Given the description of an element on the screen output the (x, y) to click on. 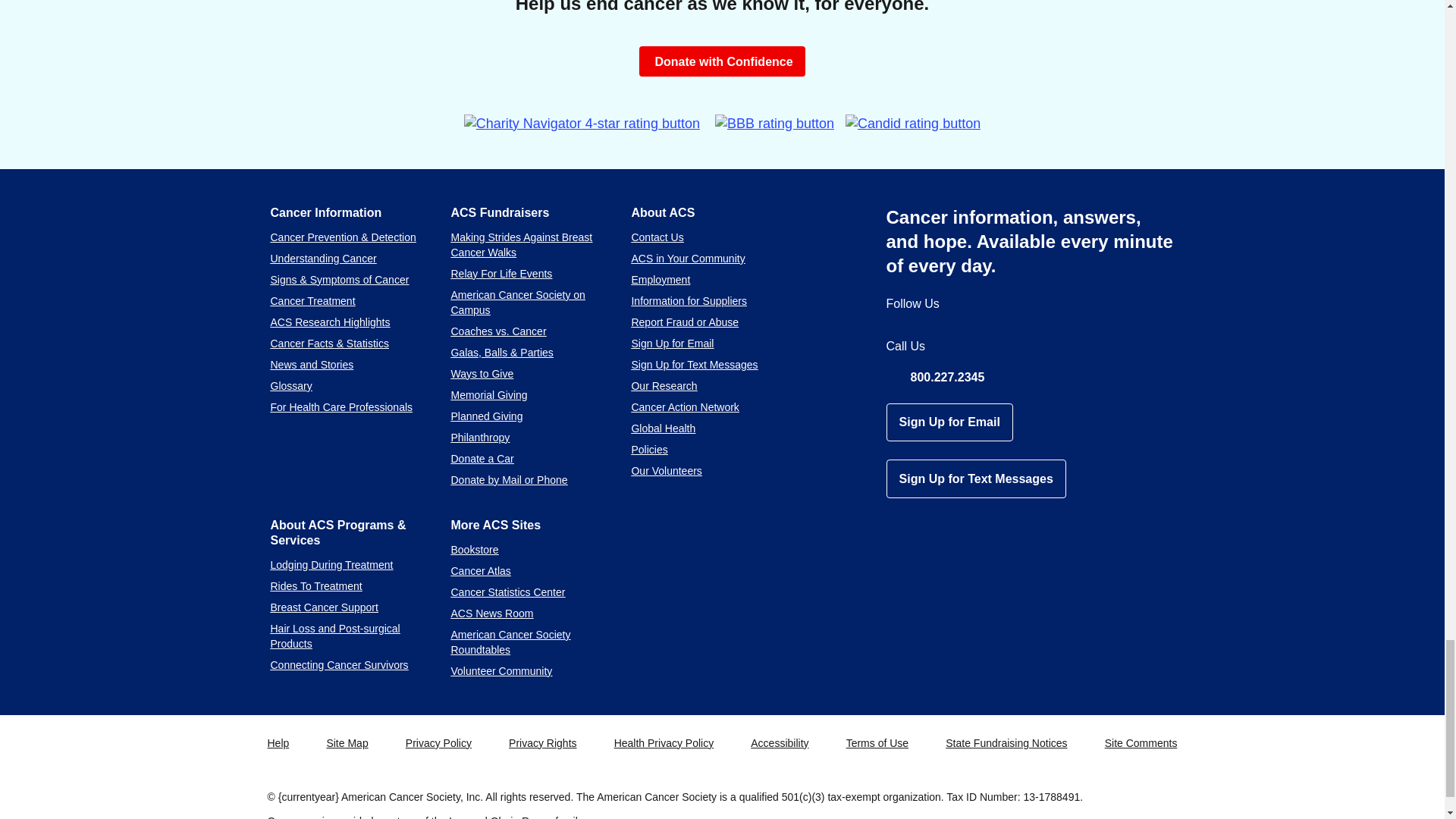
Making Strides Against Breast Cancer Walks (520, 244)
Cancer Treatment (312, 300)
For Health Care Professionals (340, 407)
Relay For Life Events (500, 273)
ACS Research Highlights (329, 322)
News and Stories (311, 364)
Understanding Cancer (322, 258)
Glossary (290, 386)
